Given the description of an element on the screen output the (x, y) to click on. 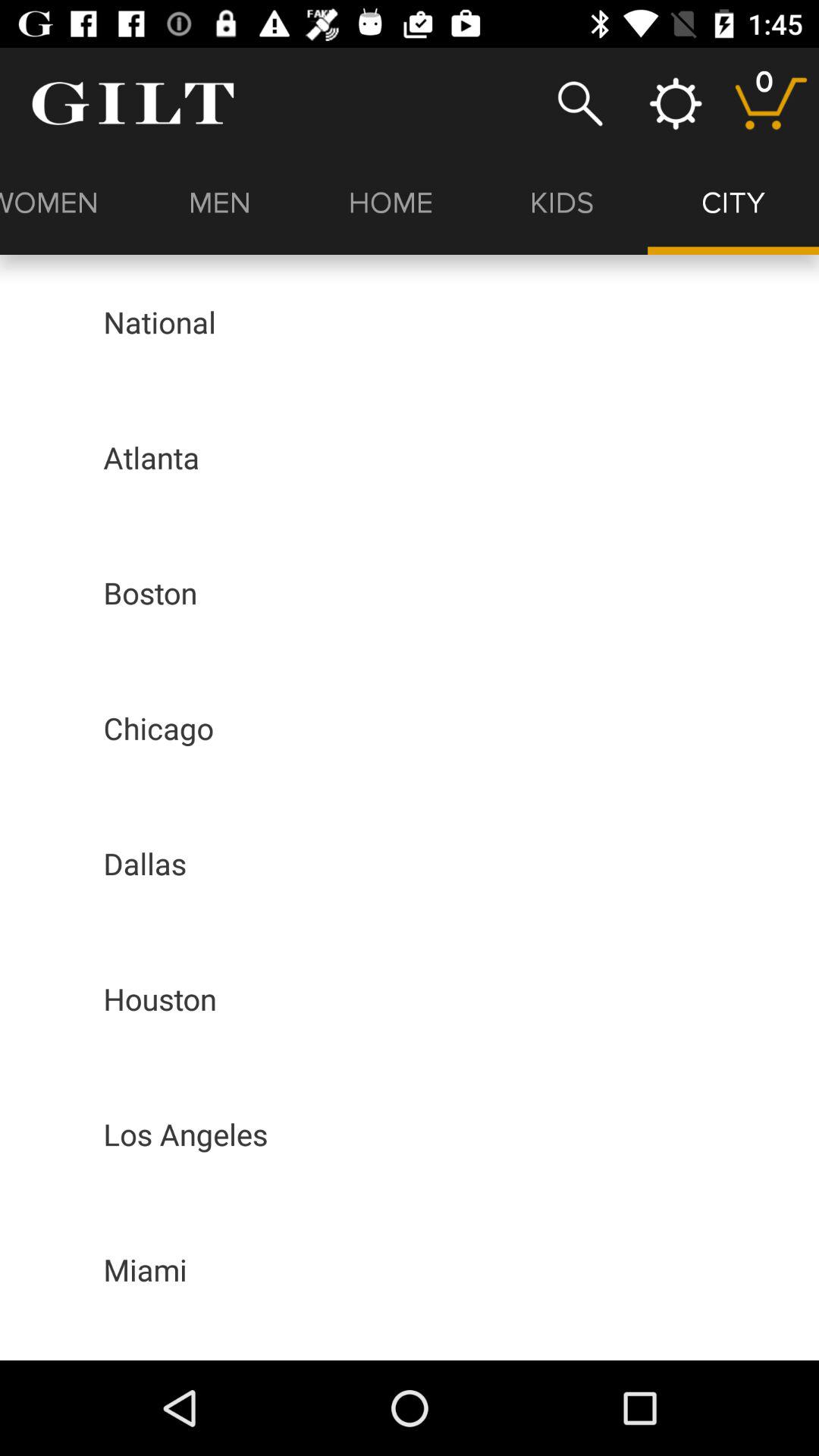
turn on the icon below boston icon (158, 728)
